Given the description of an element on the screen output the (x, y) to click on. 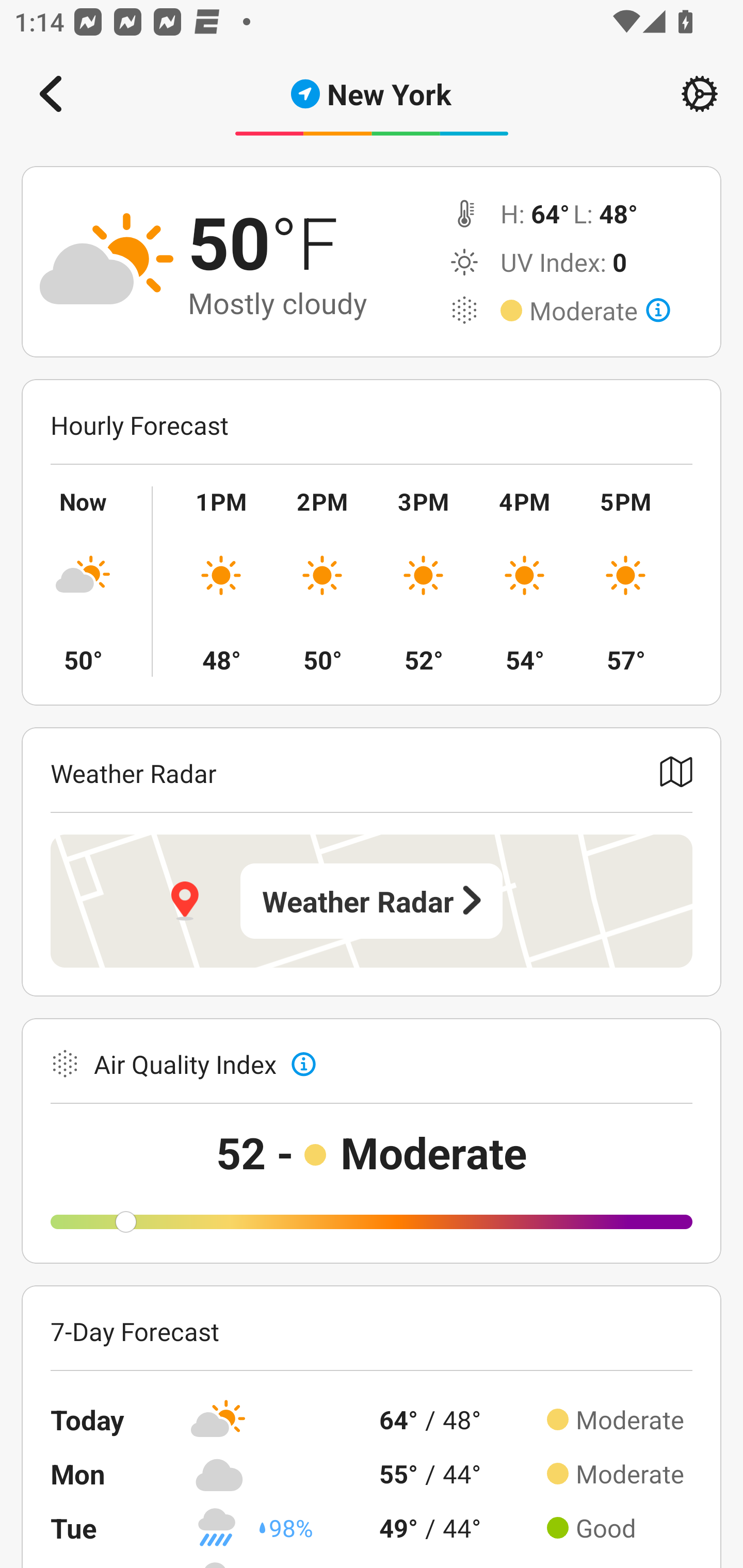
Navigate up (50, 93)
Setting (699, 93)
Moderate (599, 310)
Weather Radar (371, 900)
